Given the description of an element on the screen output the (x, y) to click on. 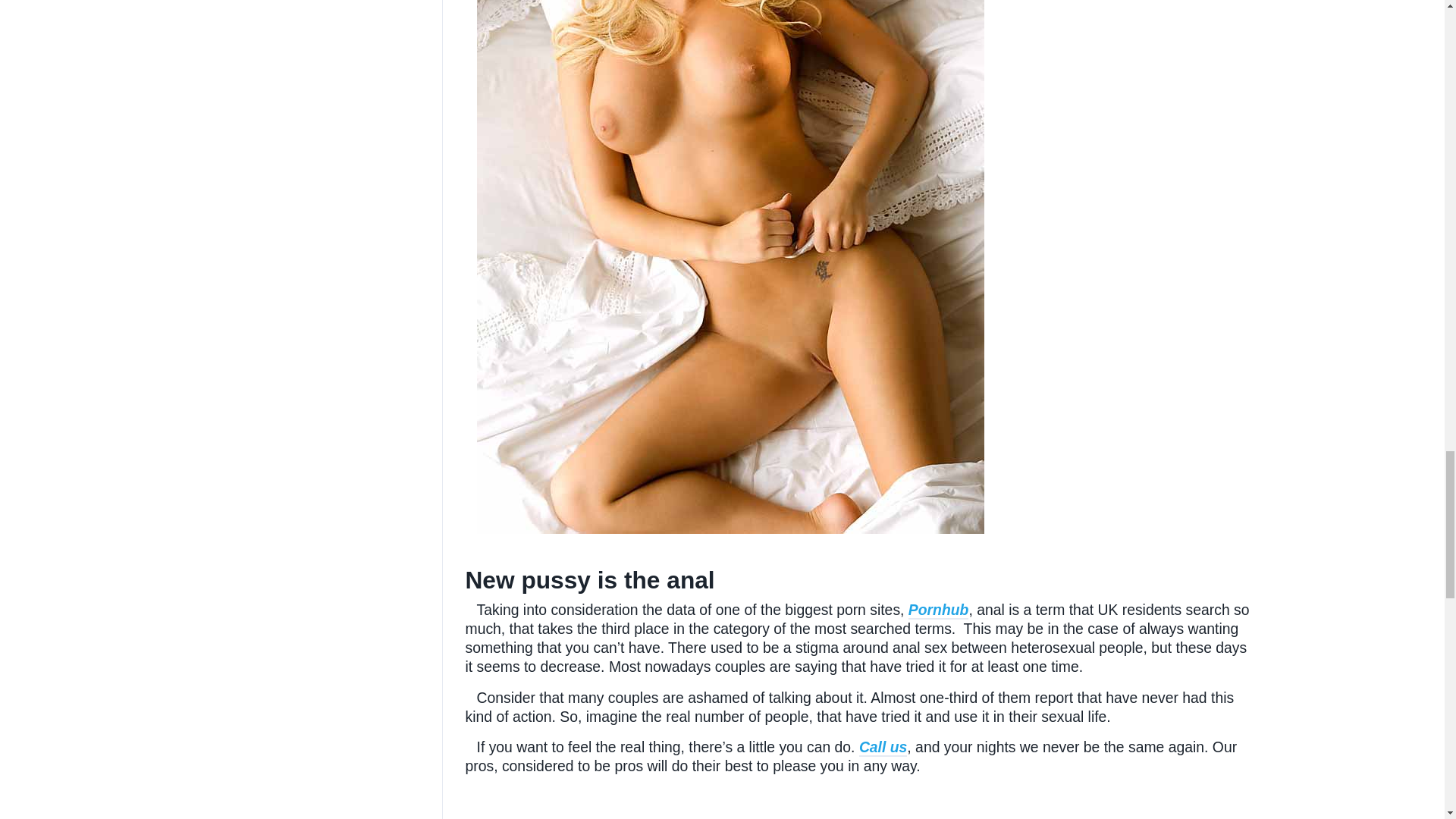
Call us (883, 747)
Pornhub (938, 610)
